Given the description of an element on the screen output the (x, y) to click on. 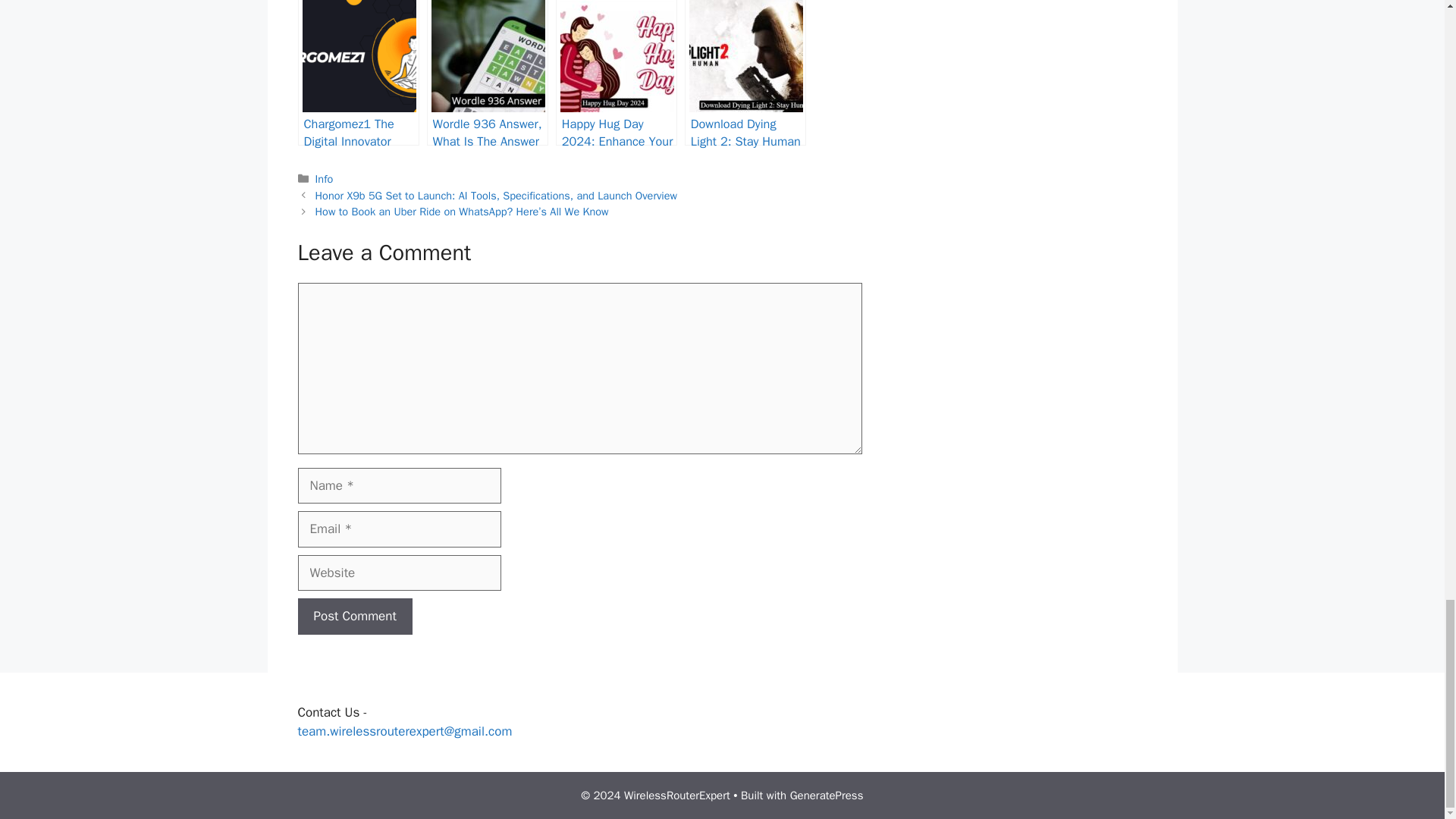
Info (324, 178)
Post Comment (354, 616)
Post Comment (354, 616)
